Given the description of an element on the screen output the (x, y) to click on. 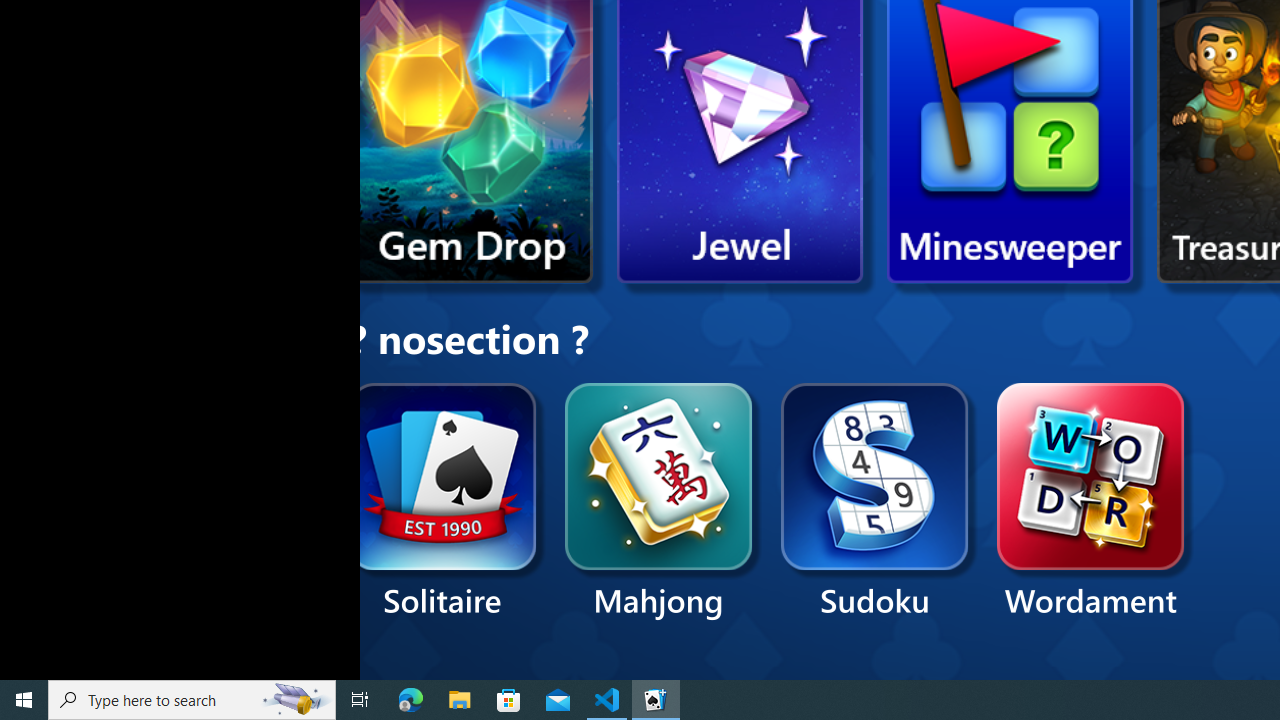
Mahjong (659, 502)
Sudoku (875, 502)
Wordament (1090, 502)
Solitaire & Casual Games - 1 running window (656, 699)
Solitaire (442, 502)
